Given the description of an element on the screen output the (x, y) to click on. 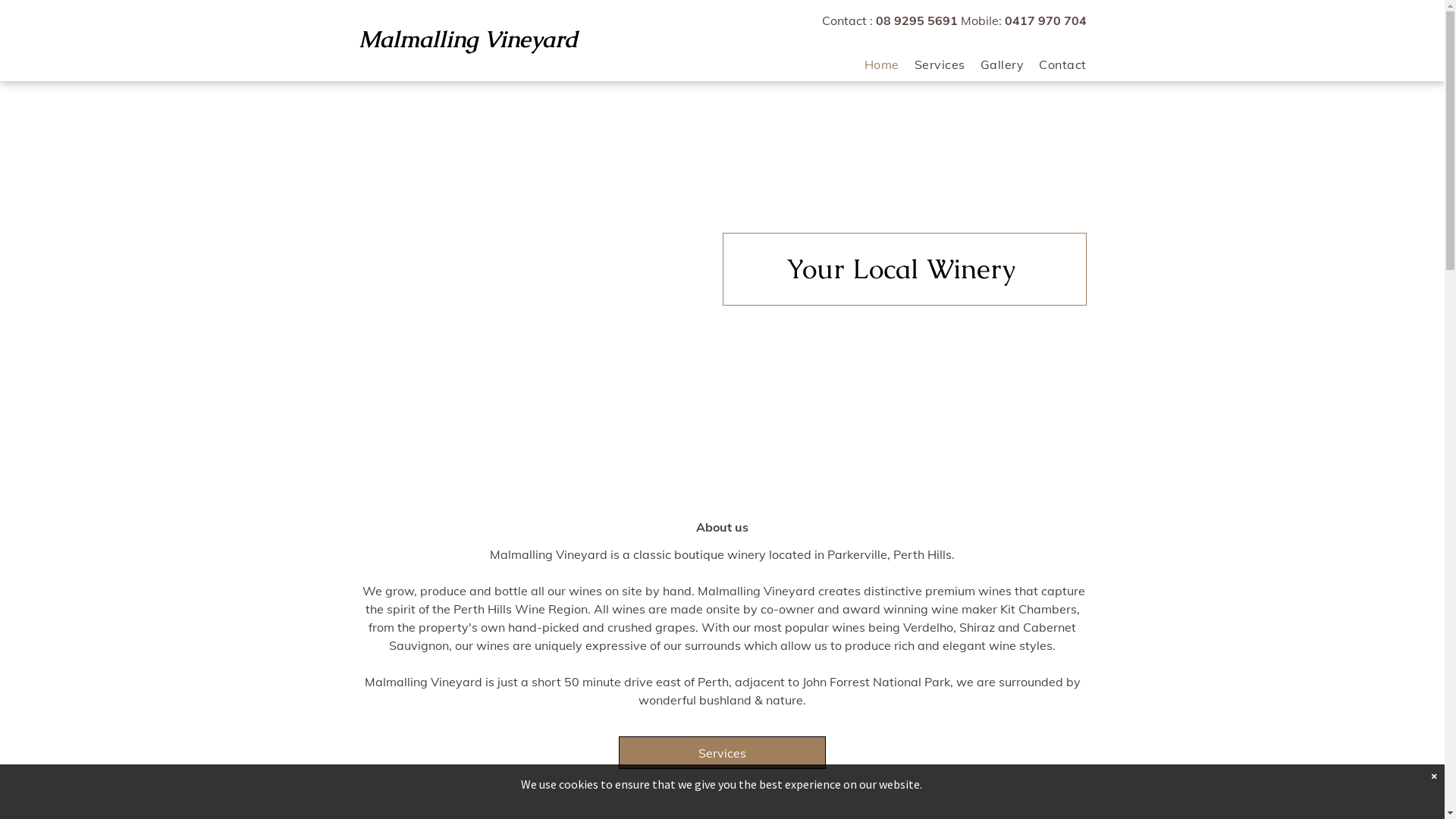
Gallery Element type: text (994, 64)
Services Element type: text (721, 752)
Contact Element type: text (1054, 64)
Services Element type: text (932, 64)
Home Element type: text (874, 64)
Malmalling Vineyard Element type: text (467, 38)
08 9295 5691 Element type: text (916, 20)
0417 970 704 Element type: text (1044, 20)
